Given the description of an element on the screen output the (x, y) to click on. 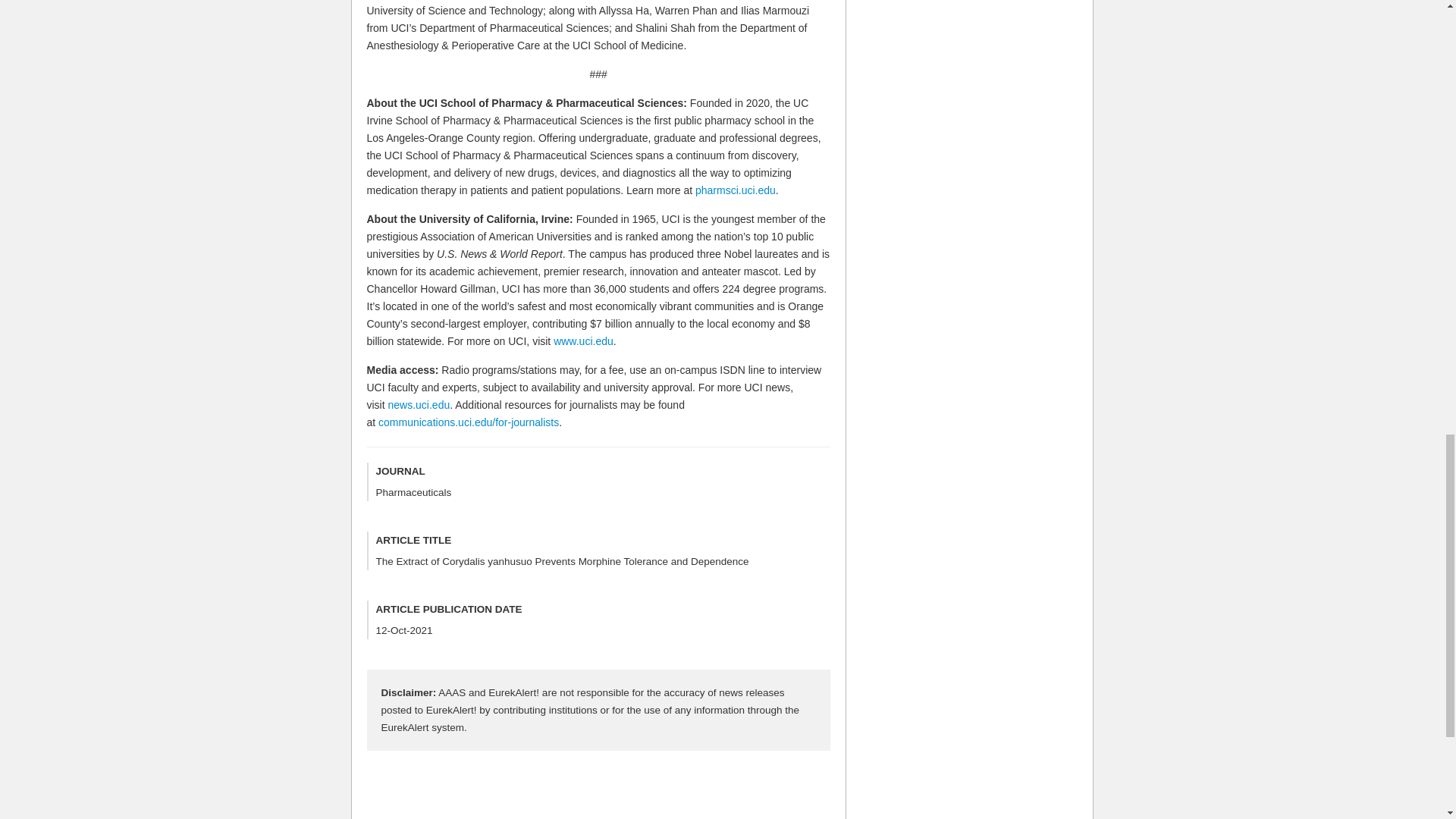
pharmsci.uci.edu (735, 190)
www.uci.edu (582, 340)
news.uci.edu (418, 404)
